Given the description of an element on the screen output the (x, y) to click on. 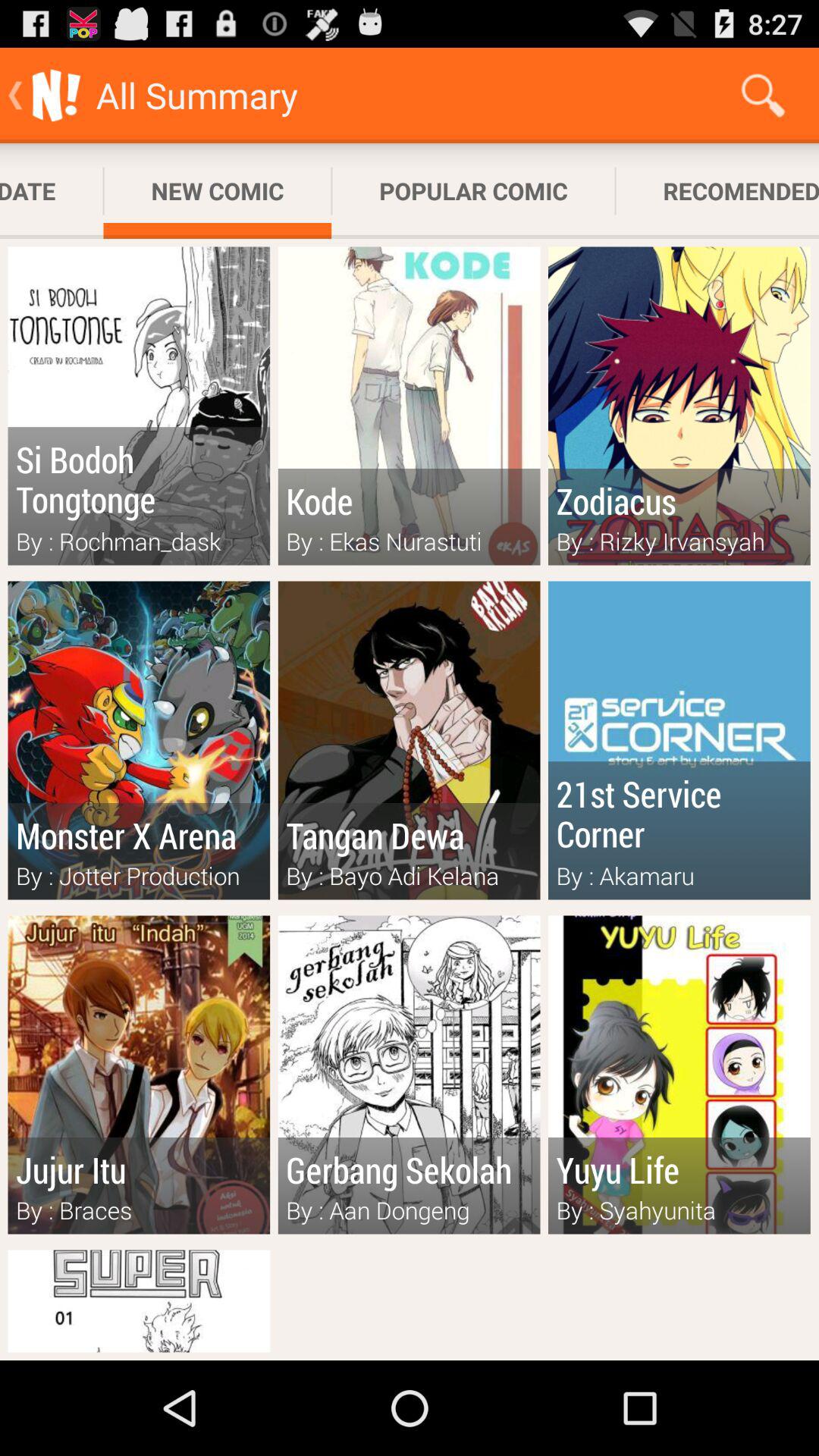
select icon to the right of subscribed update (217, 190)
